Given the description of an element on the screen output the (x, y) to click on. 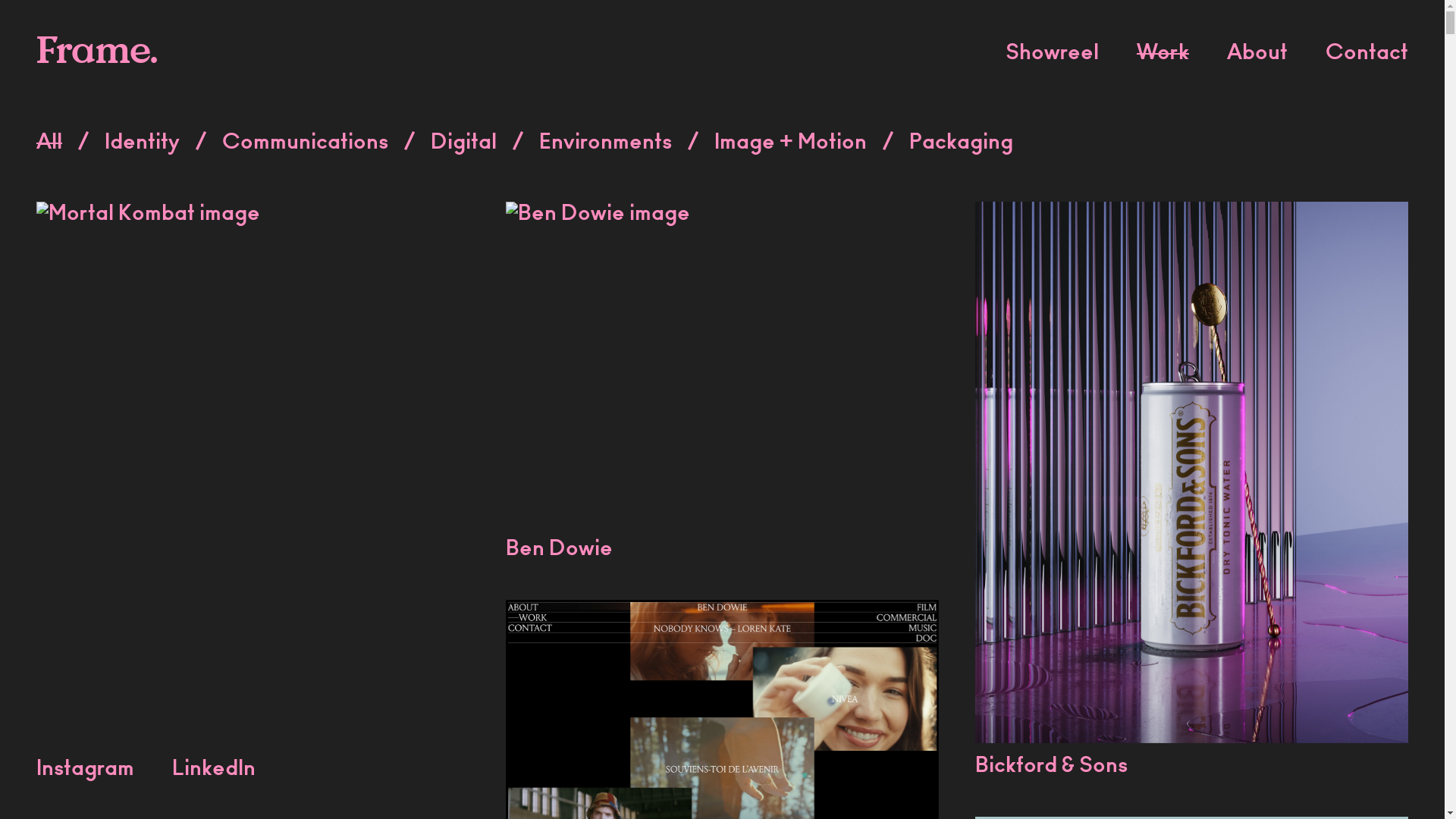
Communications Element type: text (305, 143)
Instagram Element type: text (85, 769)
Work Element type: text (1162, 53)
Frame. Element type: text (97, 48)
Image + Motion Element type: text (790, 143)
LinkedIn Element type: text (213, 769)
Showreel Element type: text (1051, 53)
Environments Element type: text (605, 143)
Contact Element type: text (1366, 53)
Packaging Element type: text (961, 143)
Identity Element type: text (141, 143)
About Element type: text (1257, 53)
All Element type: text (49, 143)
Digital Element type: text (463, 143)
